Given the description of an element on the screen output the (x, y) to click on. 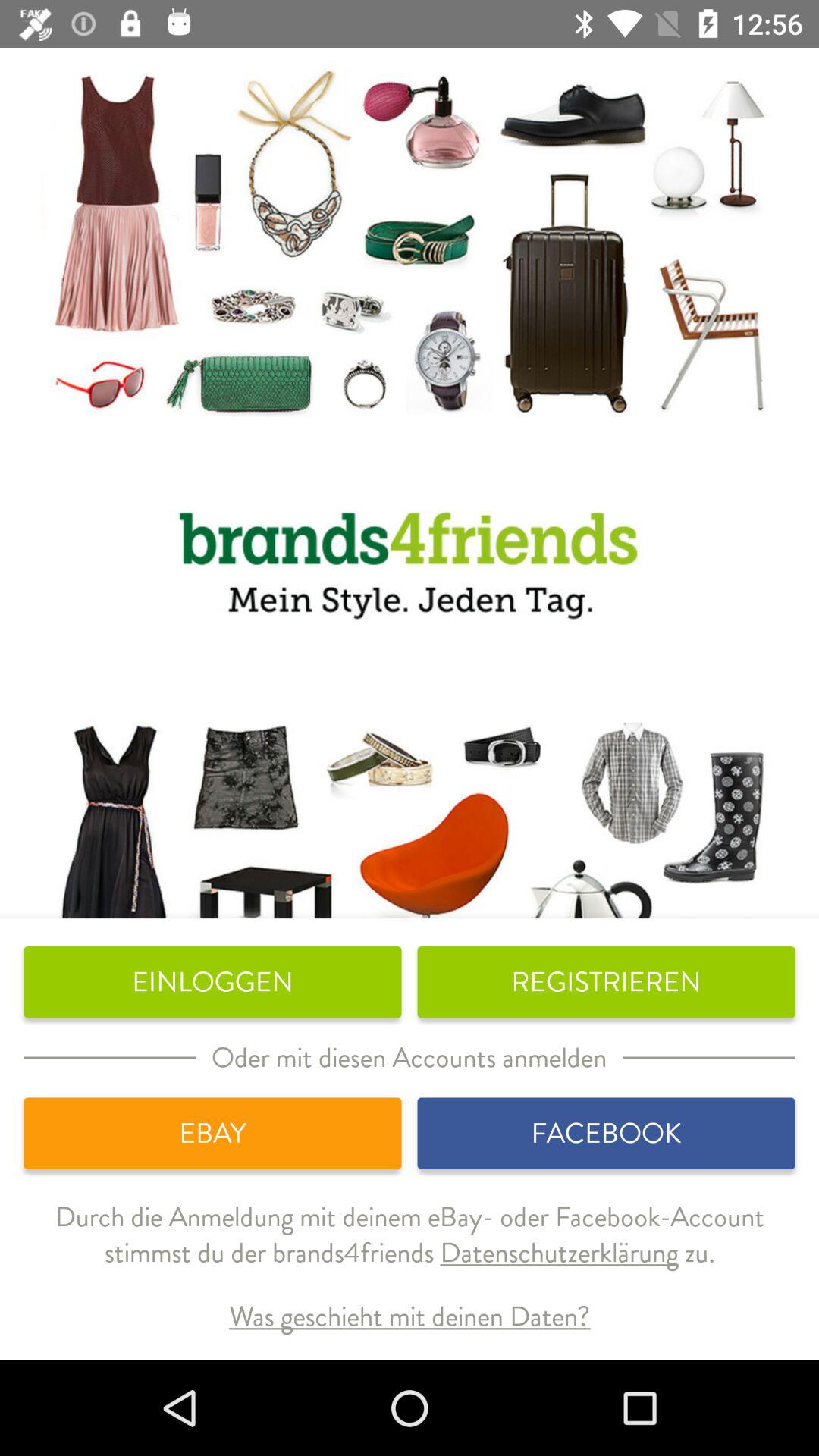
select the was geschieht mit icon (409, 1316)
